Given the description of an element on the screen output the (x, y) to click on. 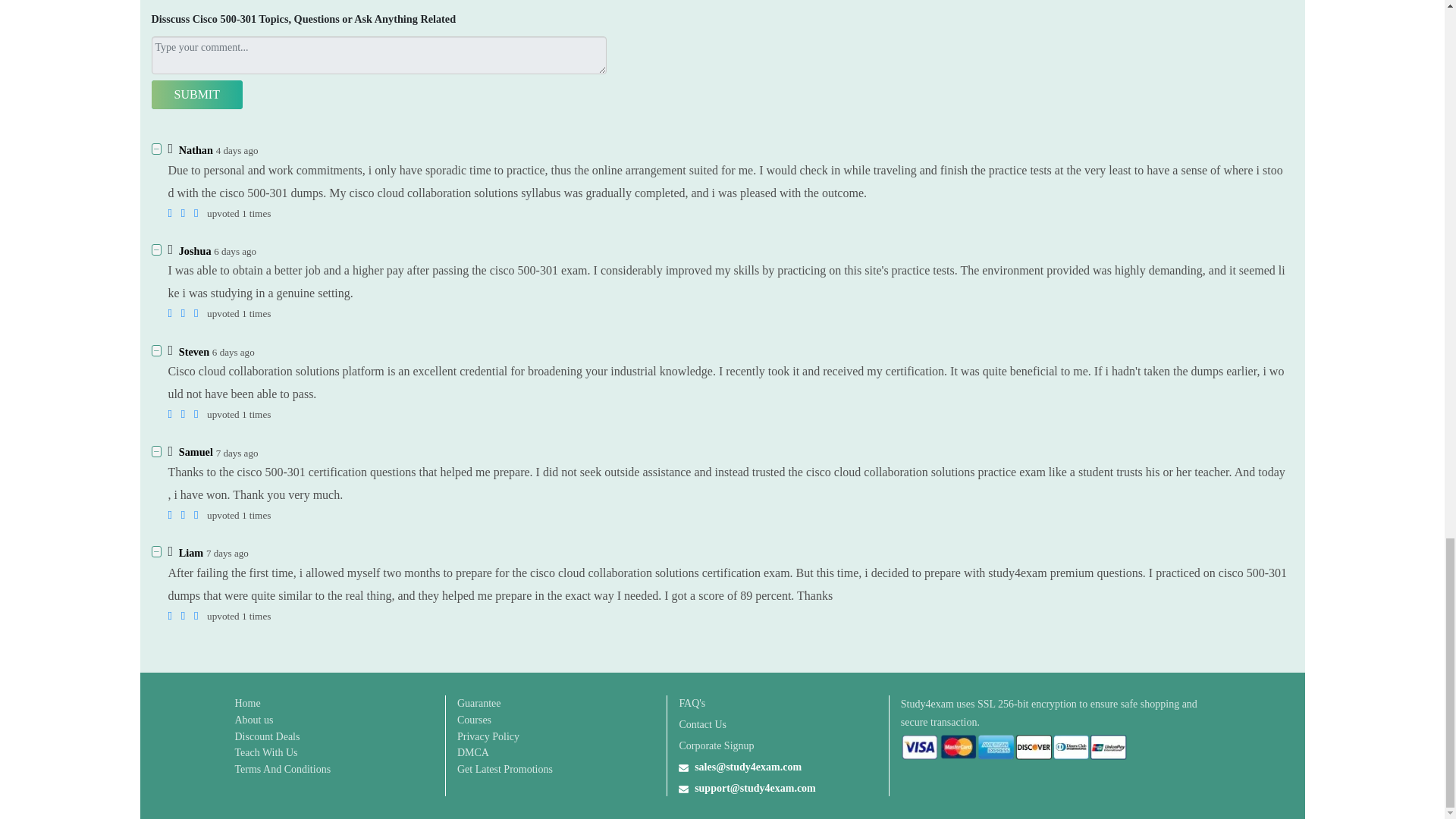
Aug 30, 2024, 09:11 AM (237, 150)
Aug 28, 2024, 10:45 AM (235, 251)
Aug 27, 2024, 01:56 PM (237, 451)
Aug 27, 2024, 01:27 PM (227, 552)
Aug 27, 2024, 04:35 PM (233, 351)
SUBMIT (197, 94)
